Given the description of an element on the screen output the (x, y) to click on. 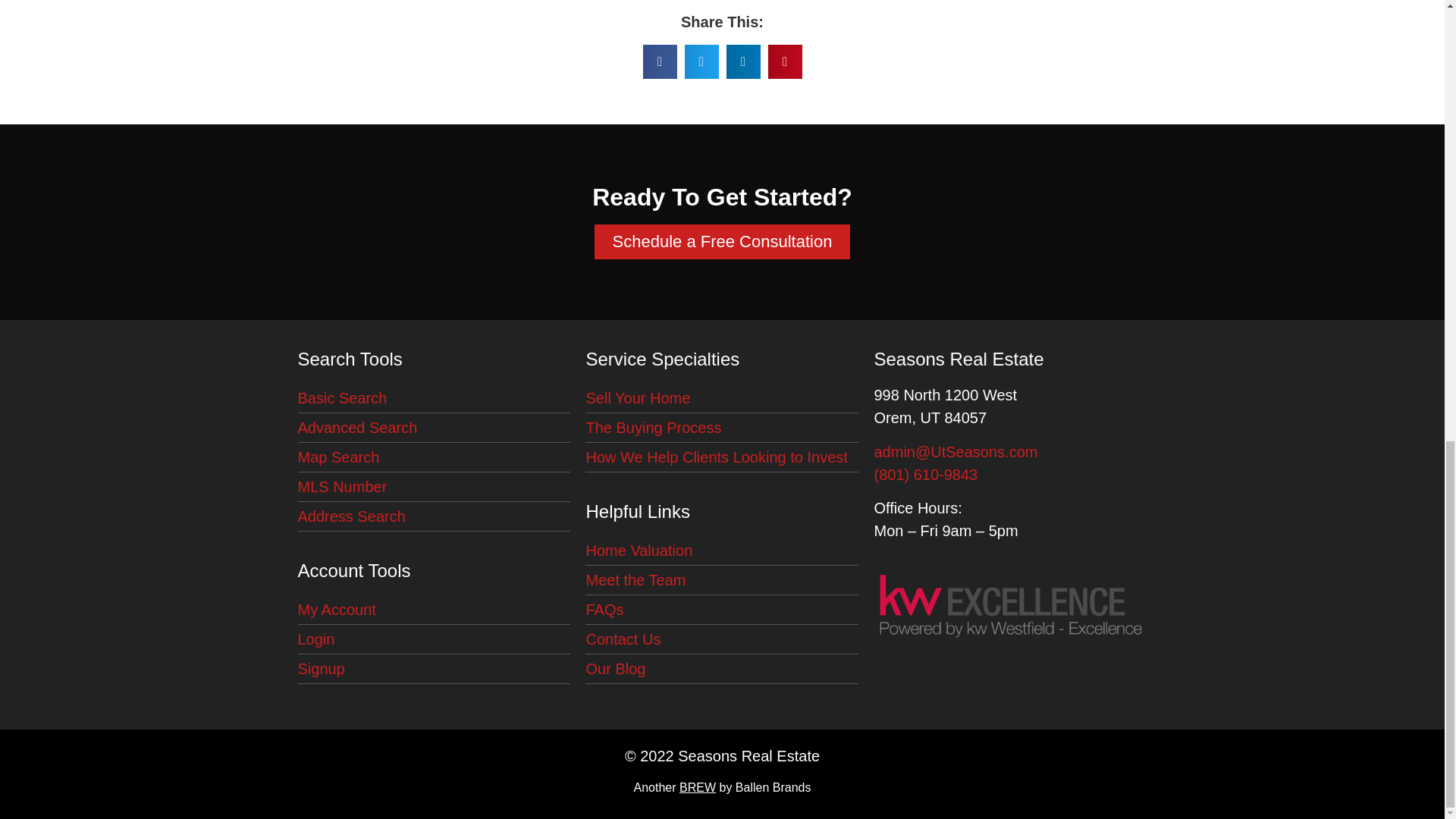
Schedule a Free Consultation (722, 241)
Map Search (433, 457)
Address Search (433, 516)
Advanced Search (433, 428)
MLS Number (433, 487)
My Account (433, 609)
Basic Search (433, 398)
